Given the description of an element on the screen output the (x, y) to click on. 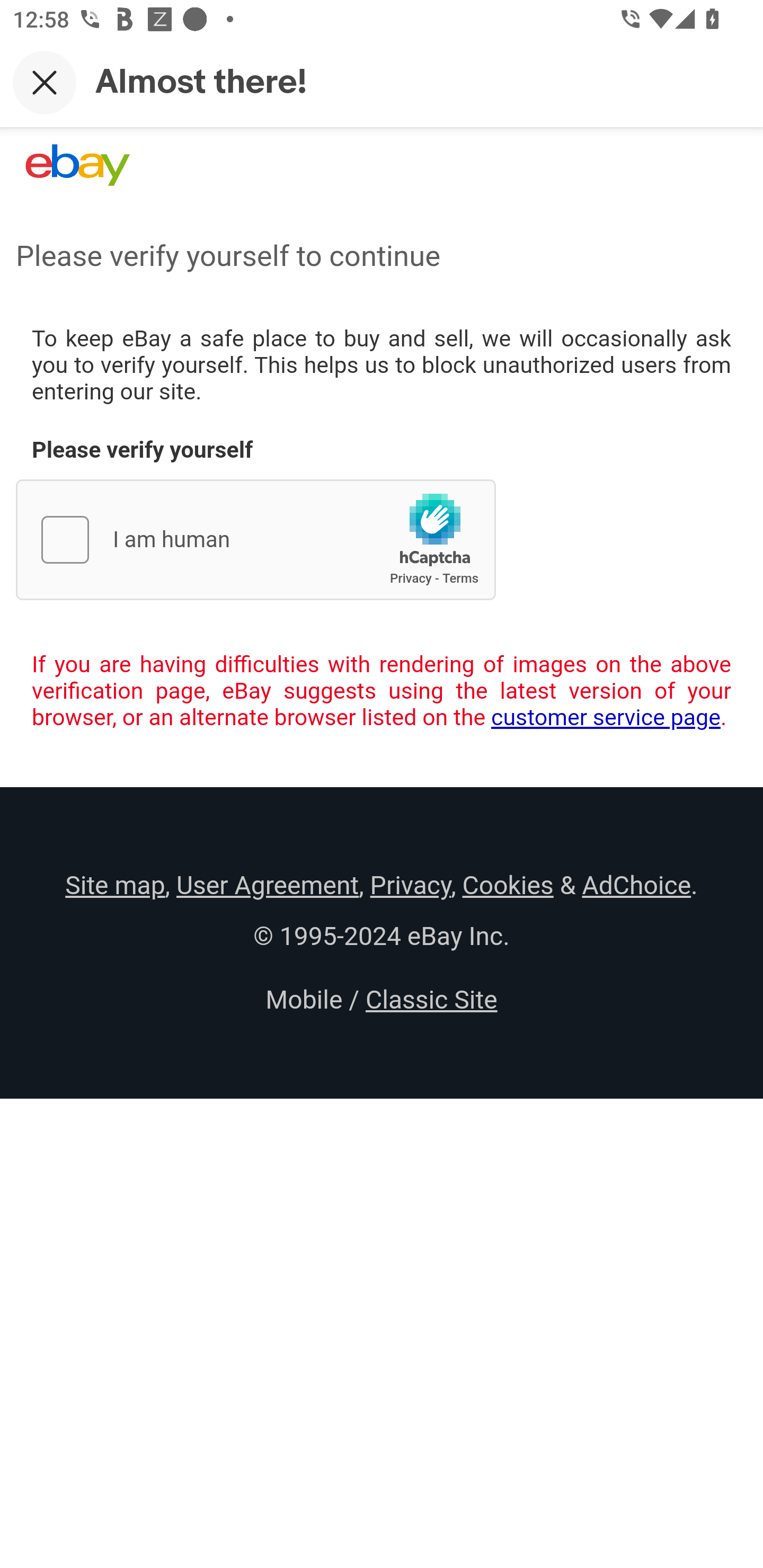
Close (44, 82)
eBay Home (77, 165)
hCaptcha Privacy Policy Privacy (410, 578)
hCaptcha Terms of Service Terms (459, 578)
customer service page (605, 717)
Site map (114, 884)
User Agreement (266, 884)
Privacy (409, 884)
Cookies (507, 884)
AdChoice (636, 884)
